Given the description of an element on the screen output the (x, y) to click on. 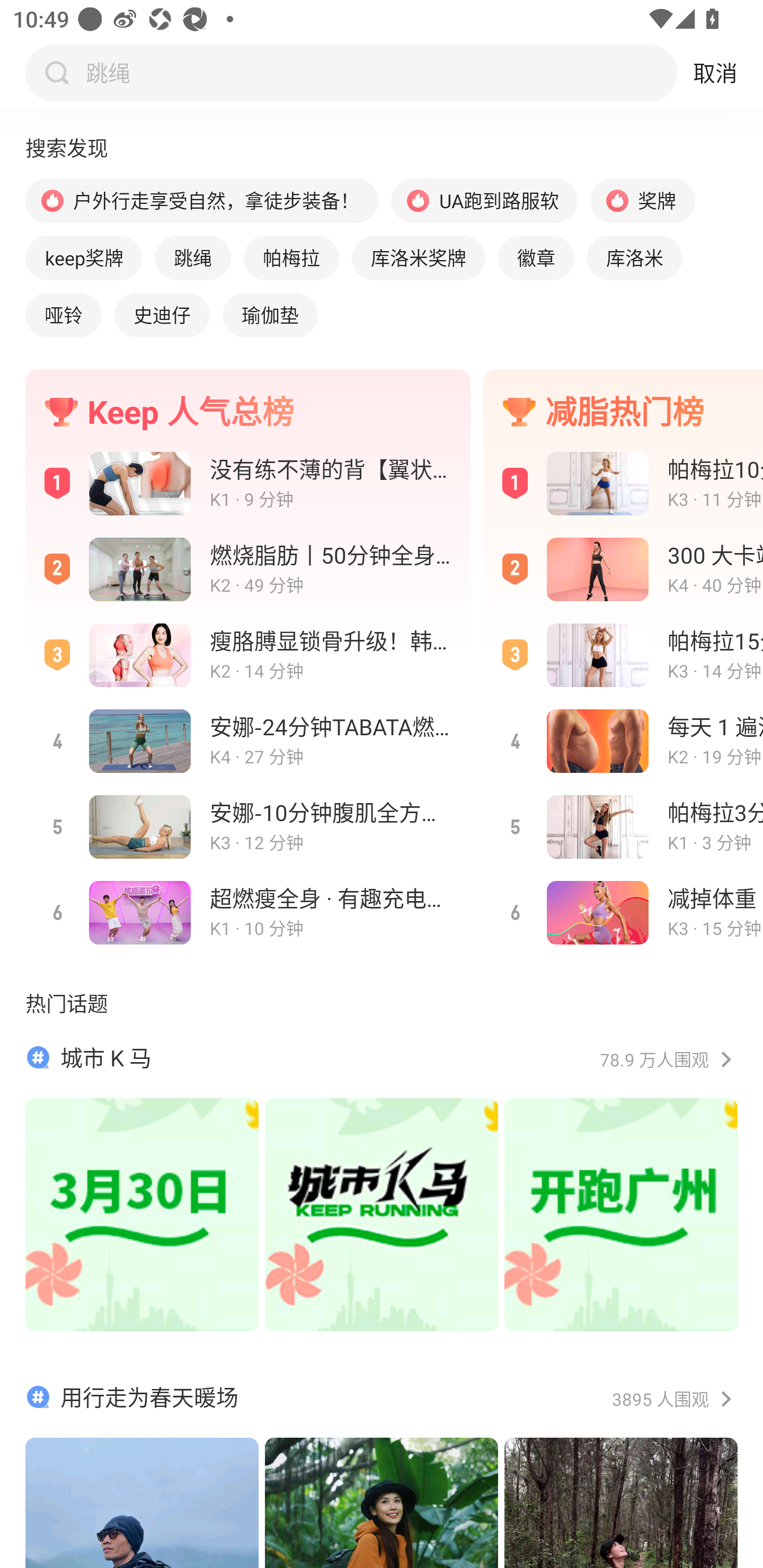
跳绳 EditSearch (377, 72)
取消 (714, 72)
户外行走享受自然，拿徒步装备！ (201, 200)
UA跑到路服软 (483, 200)
奖牌 (642, 200)
keep奖牌 (83, 257)
跳绳 (192, 257)
帕梅拉 (290, 257)
库洛米奖牌 (418, 257)
徽章 (536, 257)
库洛米 (634, 257)
哑铃 (63, 315)
史迪仔 (161, 315)
瑜伽垫 (270, 315)
热门课榜 热门课榜 没有练不薄的背【翼状肩矫正】·偶不偶买噶 K1 · 9 分钟 (247, 483)
热门课榜 热门课榜 帕梅拉10分钟挥汗舞蹈 让身体充满内啡肽 K3 · 11 分钟 (622, 483)
热门课榜 热门课榜 燃烧脂肪丨50分钟全身有氧训练·奥博朗 K2 · 49 分钟 (247, 569)
热门课榜 热门课榜 瘦胳膊显锁骨升级！韩小四 14 分钟打造迷人肩臂 K2 · 14 分钟 (247, 655)
热门课榜 热门课榜 帕梅拉15分钟快乐舞蹈操·高效减脂 K3 · 14 分钟 (622, 655)
4 热门课榜 安娜-24分钟TABATA燃脂塑形 K4 · 27 分钟 (247, 740)
4 热门课榜 每天 1 遍消灭大肚腩 强效暴汗甩脂｜大体重专属 K2 · 19 分钟 (622, 740)
5 热门课榜 安娜-10分钟腹肌全方位训练 K3 · 12 分钟 (247, 827)
5 热门课榜 帕梅拉3分钟快乐舞蹈操 全身热身唤醒 K1 · 3 分钟 (622, 827)
6 热门课榜 超燃瘦全身 · 有趣充电操 · 燃脂派对入门 K1 · 10 分钟 (247, 912)
热门话题 城市 K 马 78.9 万人围观 (381, 1178)
用行走为春天暖场 3895 人围观 (381, 1474)
